Given the description of an element on the screen output the (x, y) to click on. 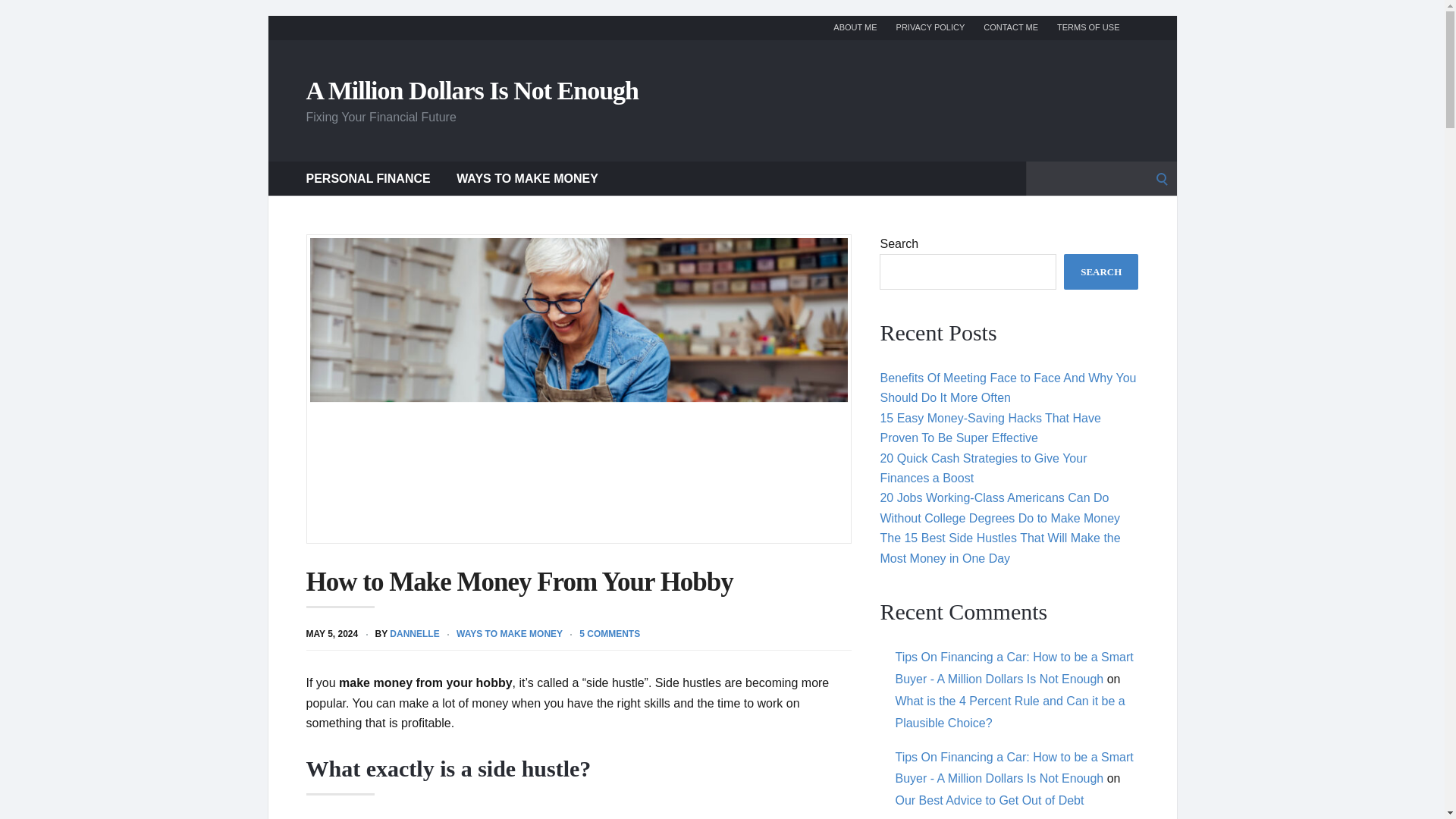
WAYS TO MAKE MONEY (509, 633)
DANNELLE (414, 633)
SEARCH (1101, 271)
CONTACT ME (1011, 27)
ABOUT ME (854, 27)
TERMS OF USE (1088, 27)
PERSONAL FINANCE (367, 177)
5 COMMENTS (609, 633)
Posts by Dannelle (414, 633)
PRIVACY POLICY (930, 27)
A Million Dollars Is Not Enough (472, 89)
WAYS TO MAKE MONEY (527, 177)
Search (16, 17)
